Given the description of an element on the screen output the (x, y) to click on. 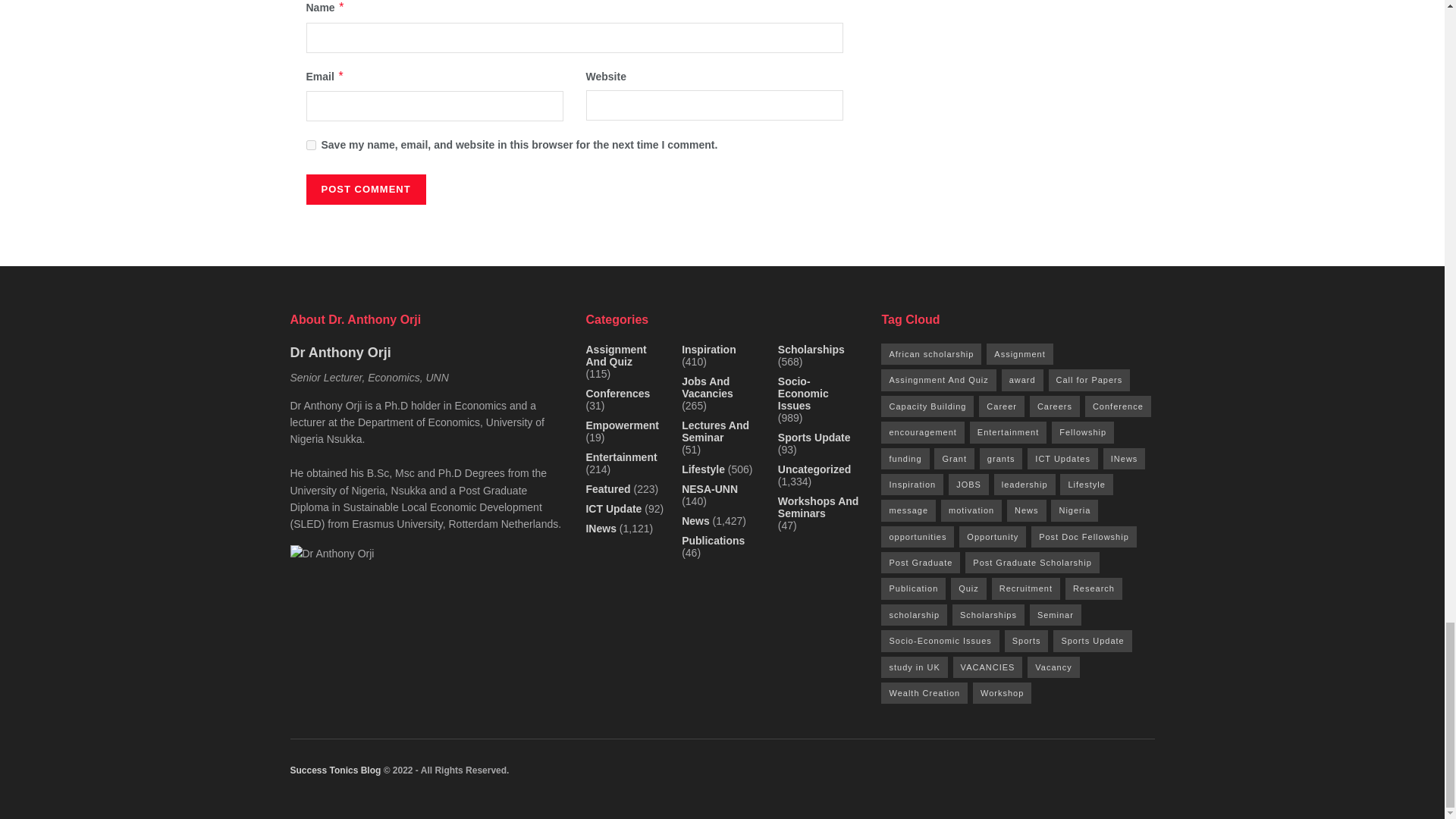
Success Tonics Blog (334, 769)
yes (310, 144)
Post Comment (365, 189)
